Given the description of an element on the screen output the (x, y) to click on. 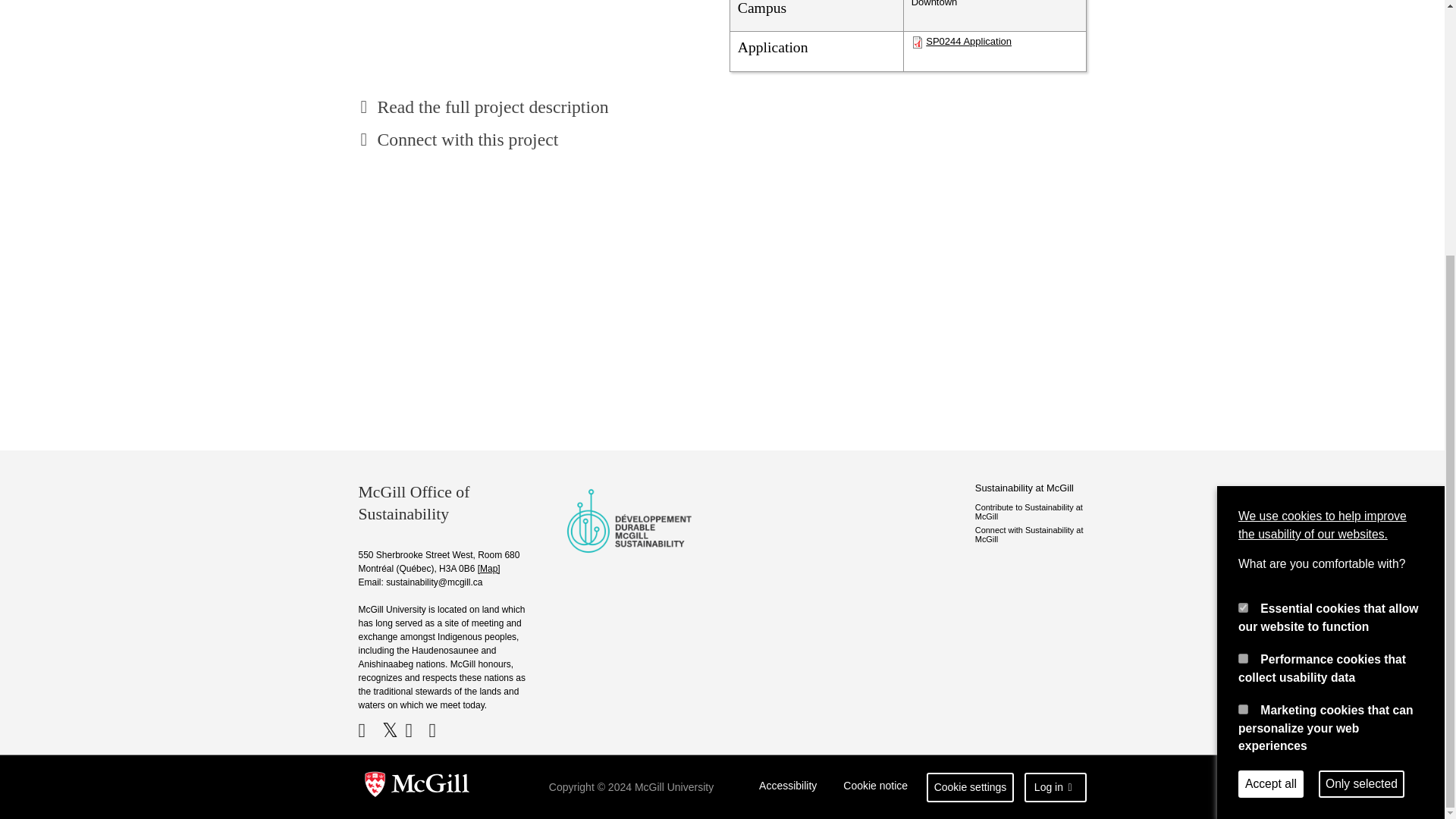
marketing (1243, 347)
return to McGill University (417, 786)
Follow Sustainability on YouTube (414, 730)
Follow Sustainability on Instagram (439, 730)
Accessibility (788, 787)
required (1243, 245)
performance (1243, 296)
Follow Sustainability on Facebook (368, 730)
Follow Sustainability on Twitter (392, 730)
